Given the description of an element on the screen output the (x, y) to click on. 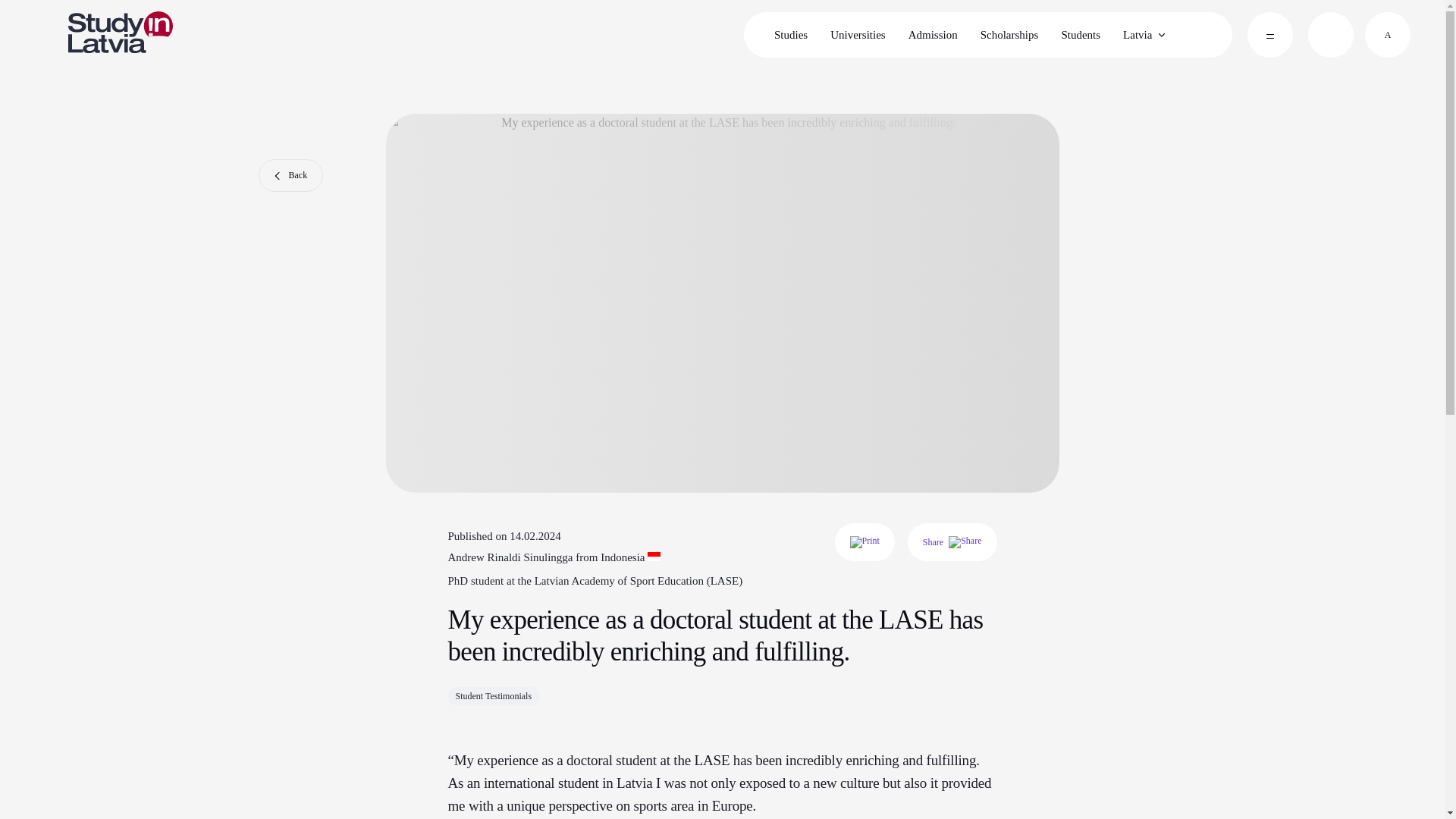
Back (290, 174)
Admission (932, 35)
Universities (858, 35)
Studies (790, 35)
Students (1080, 35)
Scholarships (1009, 35)
Share (952, 542)
